Given the description of an element on the screen output the (x, y) to click on. 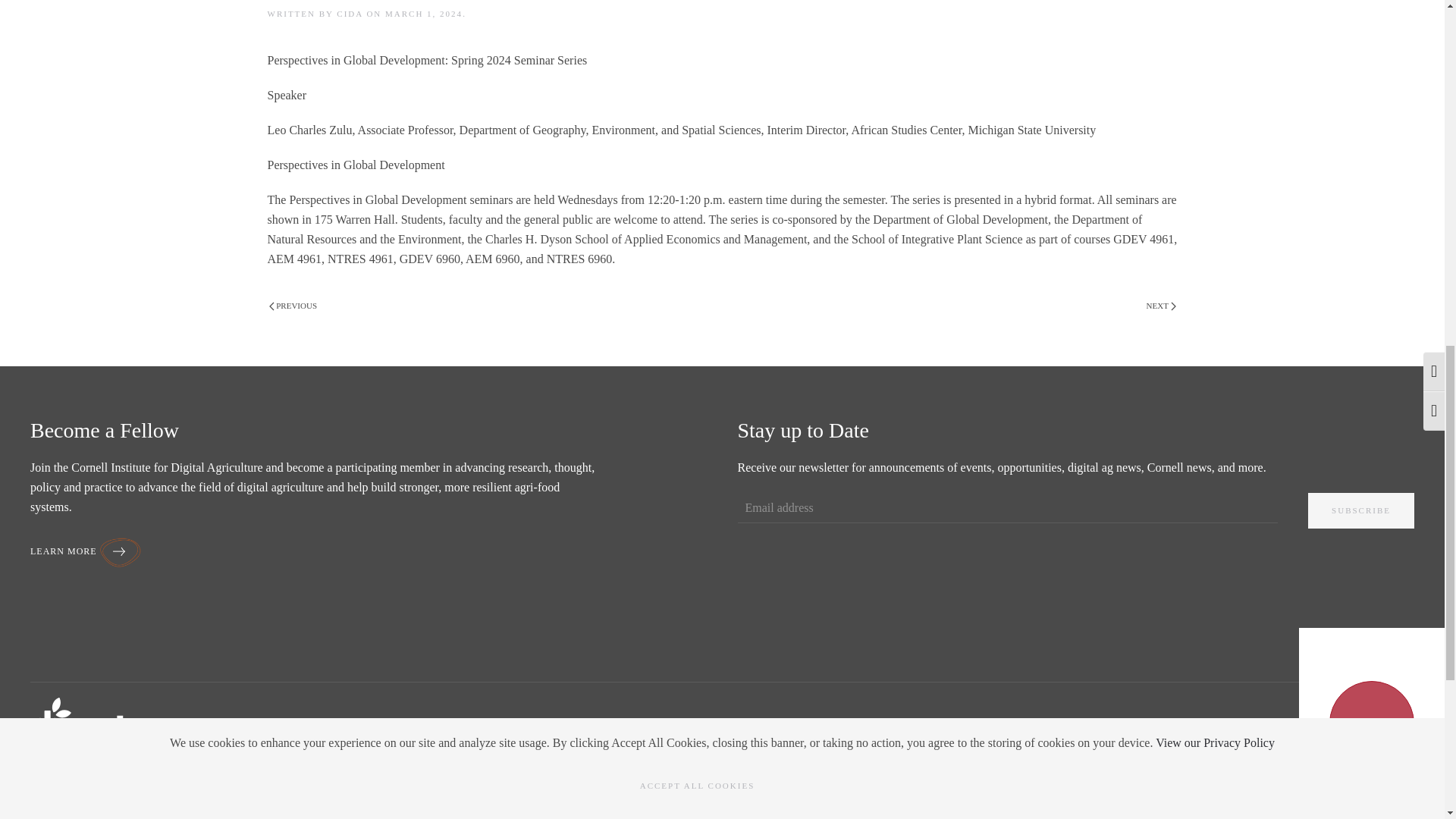
Overview (50, 816)
LEARN MORE (85, 551)
ABOUT (48, 788)
SUBSCRIBE (1360, 510)
CIDA (349, 13)
PREVIOUS (292, 306)
NEXT (1160, 306)
